Given the description of an element on the screen output the (x, y) to click on. 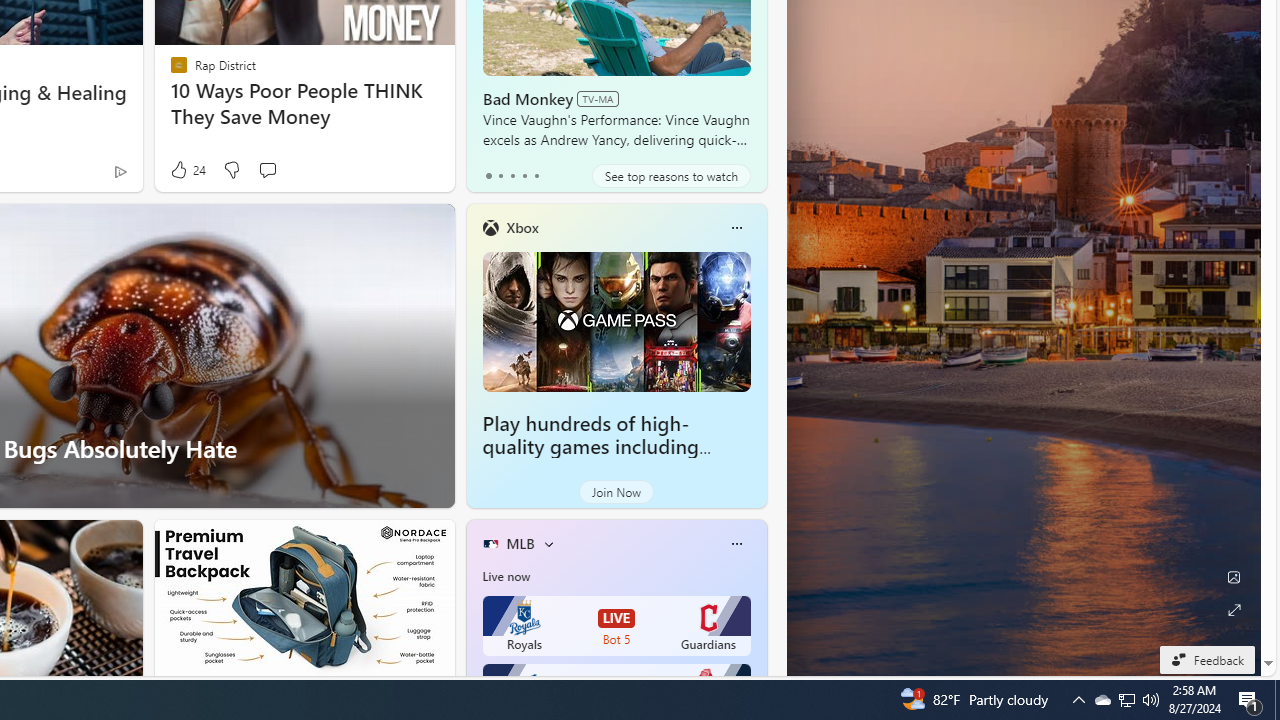
MLB (520, 543)
Dislike (230, 170)
tab-3 (524, 175)
tab-1 (500, 175)
More interests (548, 543)
Class: icon-img (736, 543)
tab-0 (488, 175)
tab-4 (535, 175)
